Given the description of an element on the screen output the (x, y) to click on. 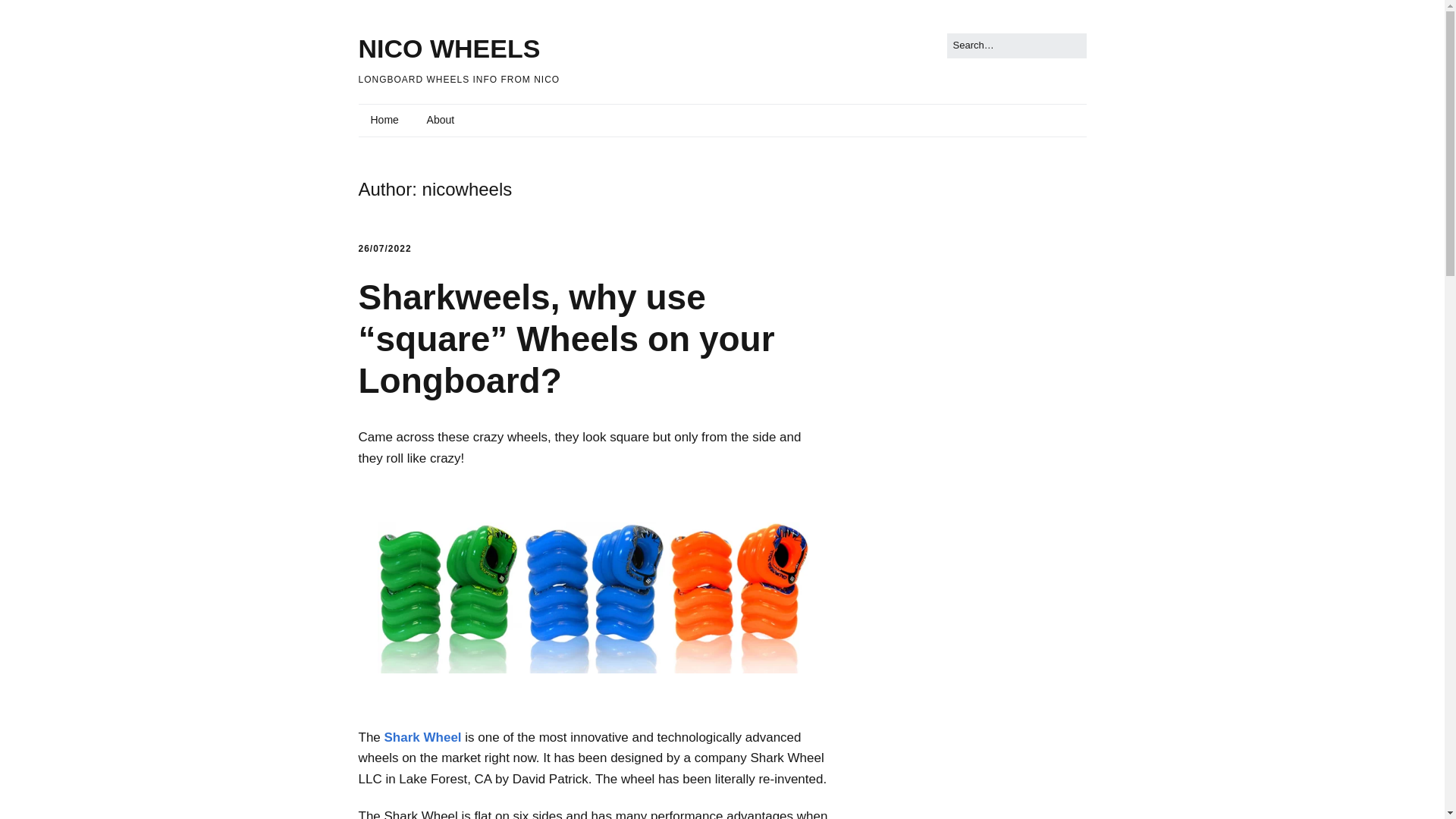
Search (29, 15)
Home (384, 120)
Shark Wheels (422, 737)
Press Enter to submit your search (1016, 45)
About (440, 120)
Shark Wheel (422, 737)
NICO WHEELS (449, 48)
